Given the description of an element on the screen output the (x, y) to click on. 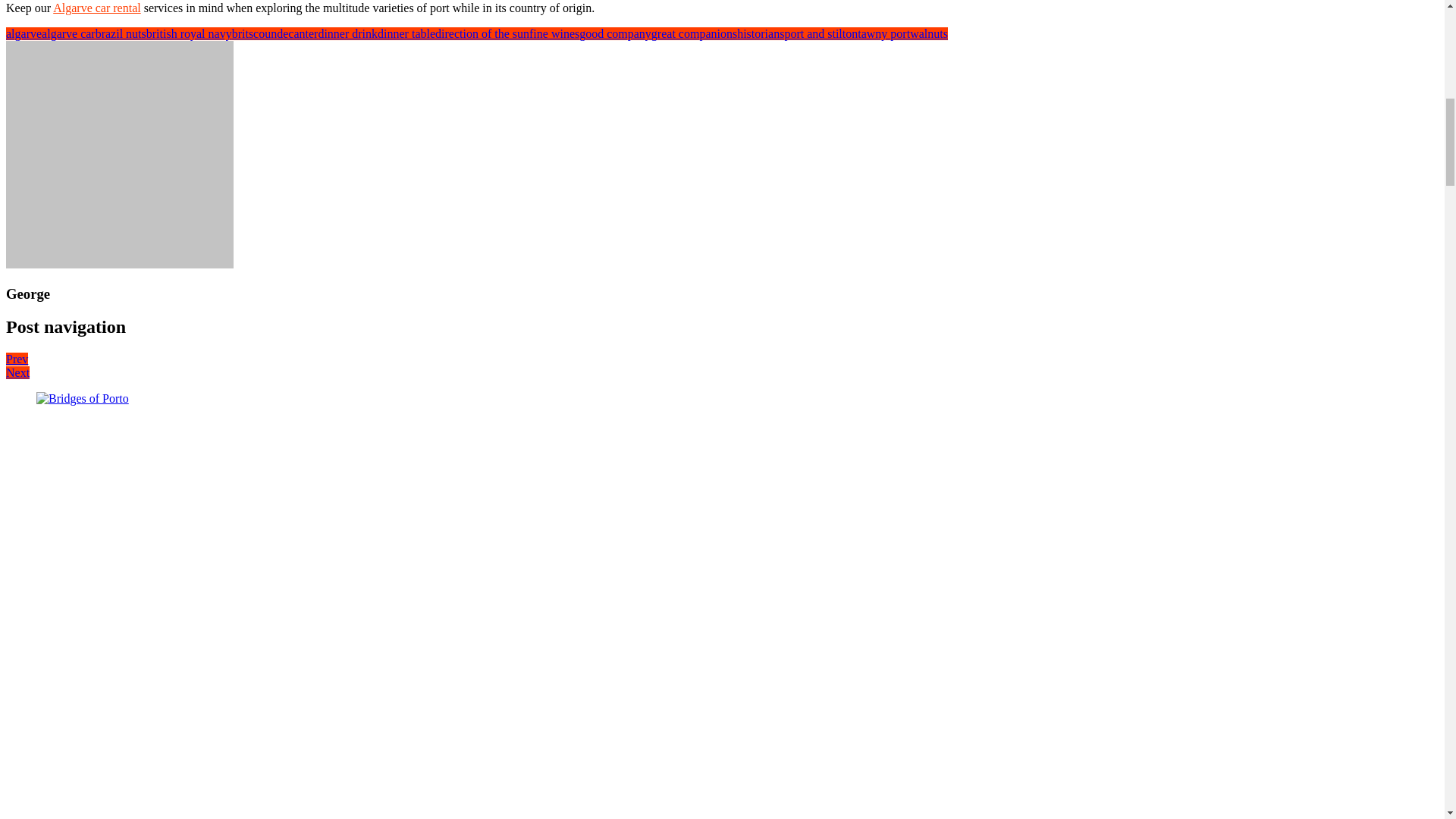
great companions (693, 33)
brazil nuts (121, 33)
Algarve car rental (95, 7)
historians (760, 33)
decanter (296, 33)
fine wines (554, 33)
walnuts (928, 33)
good company (614, 33)
brits (242, 33)
Next (17, 372)
direction of the sun (482, 33)
port and stilton (820, 33)
algarve car (69, 33)
dinner drink (347, 33)
british royal navy (189, 33)
